Given the description of an element on the screen output the (x, y) to click on. 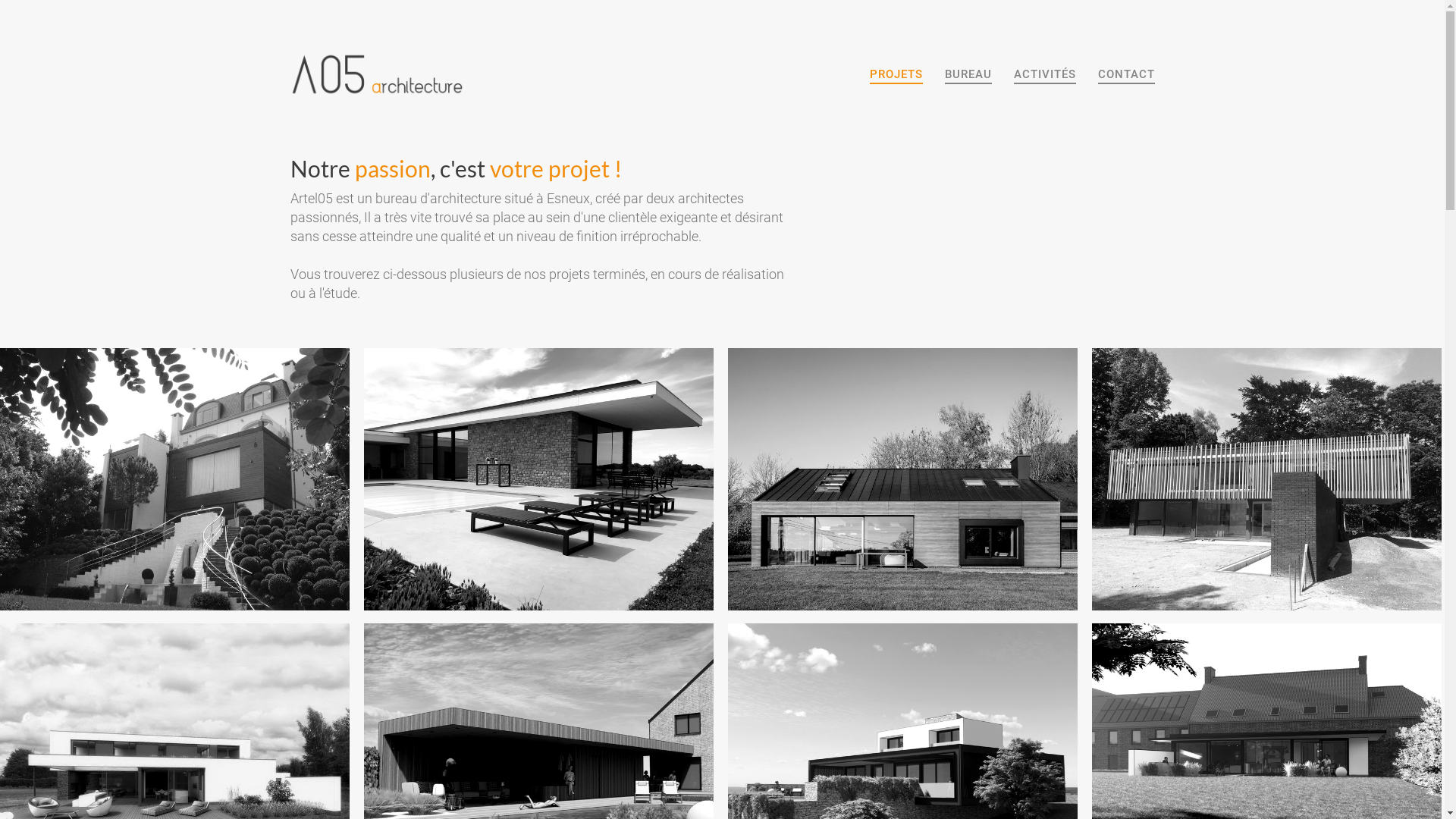
BUREAU Element type: text (967, 75)
PROJETS Element type: text (895, 75)
CONTACT Element type: text (1126, 75)
